Given the description of an element on the screen output the (x, y) to click on. 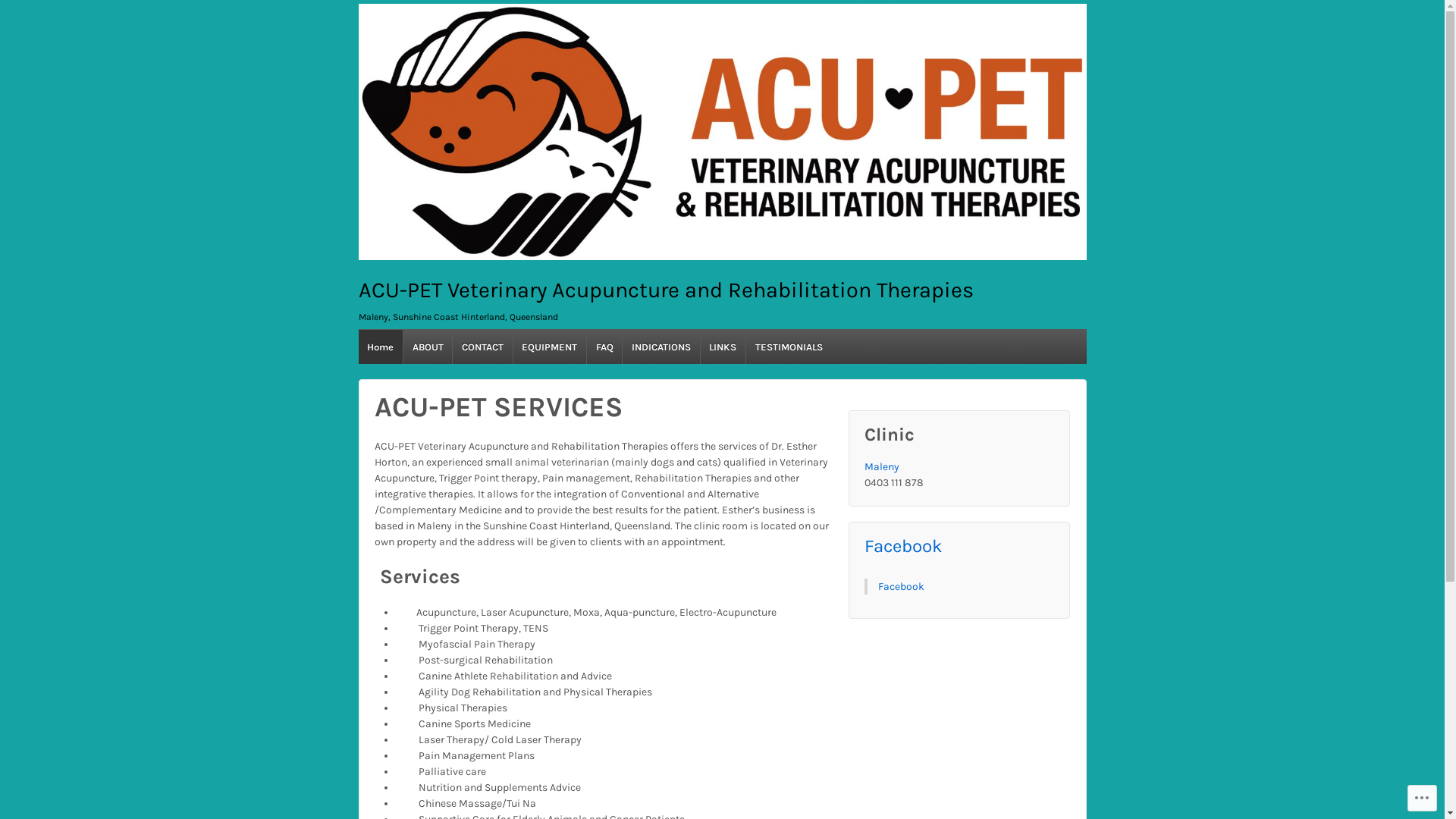
CONTACT Element type: text (481, 346)
INDICATIONS Element type: text (660, 346)
Home Element type: text (379, 346)
Facebook Element type: text (901, 586)
EQUIPMENT Element type: text (549, 346)
LINKS Element type: text (722, 346)
Skip to content Element type: text (393, 7)
ABOUT Element type: text (426, 346)
ACU-PET Veterinary Acupuncture and Rehabilitation Therapies Element type: text (664, 289)
Maleny Element type: text (881, 466)
ACU-PET Veterinary Acupuncture and Rehabilitation Therapies Element type: hover (721, 131)
Facebook Element type: text (903, 545)
FAQ Element type: text (603, 346)
TESTIMONIALS Element type: text (788, 346)
